Given the description of an element on the screen output the (x, y) to click on. 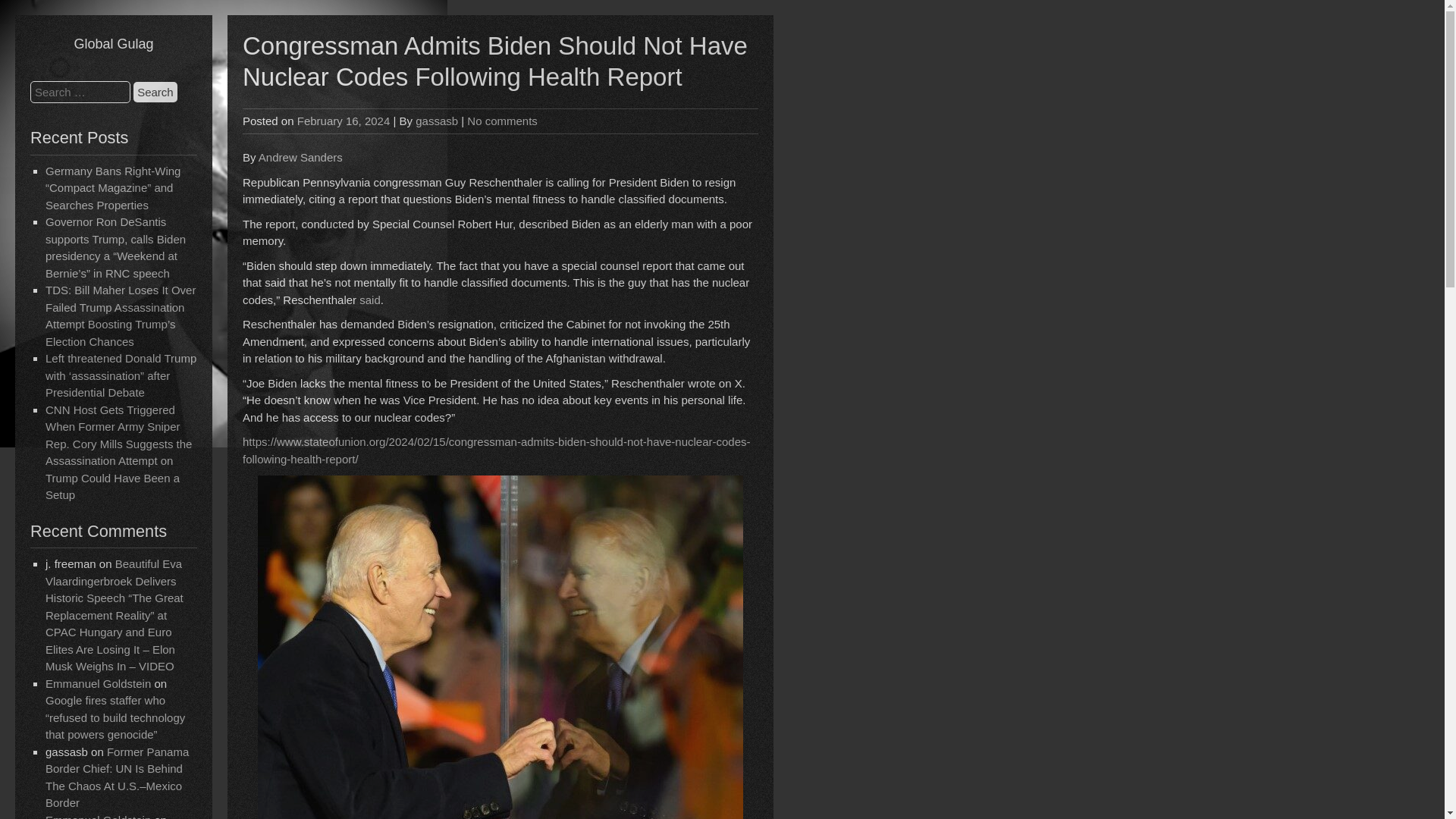
Posts by Andrew Sanders (300, 156)
Emmanuel Goldstein (98, 816)
Search (155, 91)
Search (155, 91)
Search (155, 91)
Emmanuel Goldstein (98, 683)
